Given the description of an element on the screen output the (x, y) to click on. 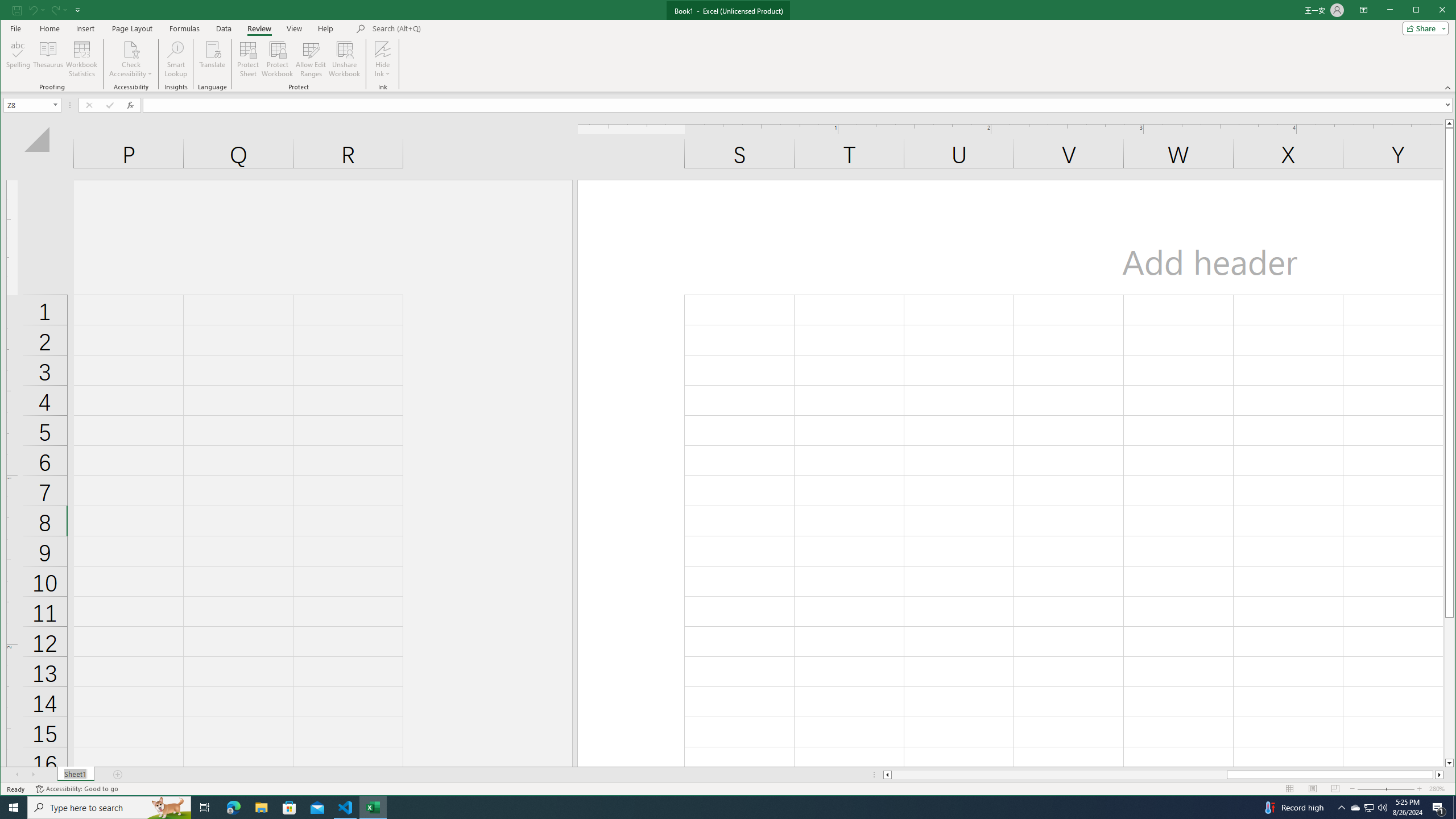
Sheet Tab (75, 774)
Workbook Statistics (82, 59)
